Given the description of an element on the screen output the (x, y) to click on. 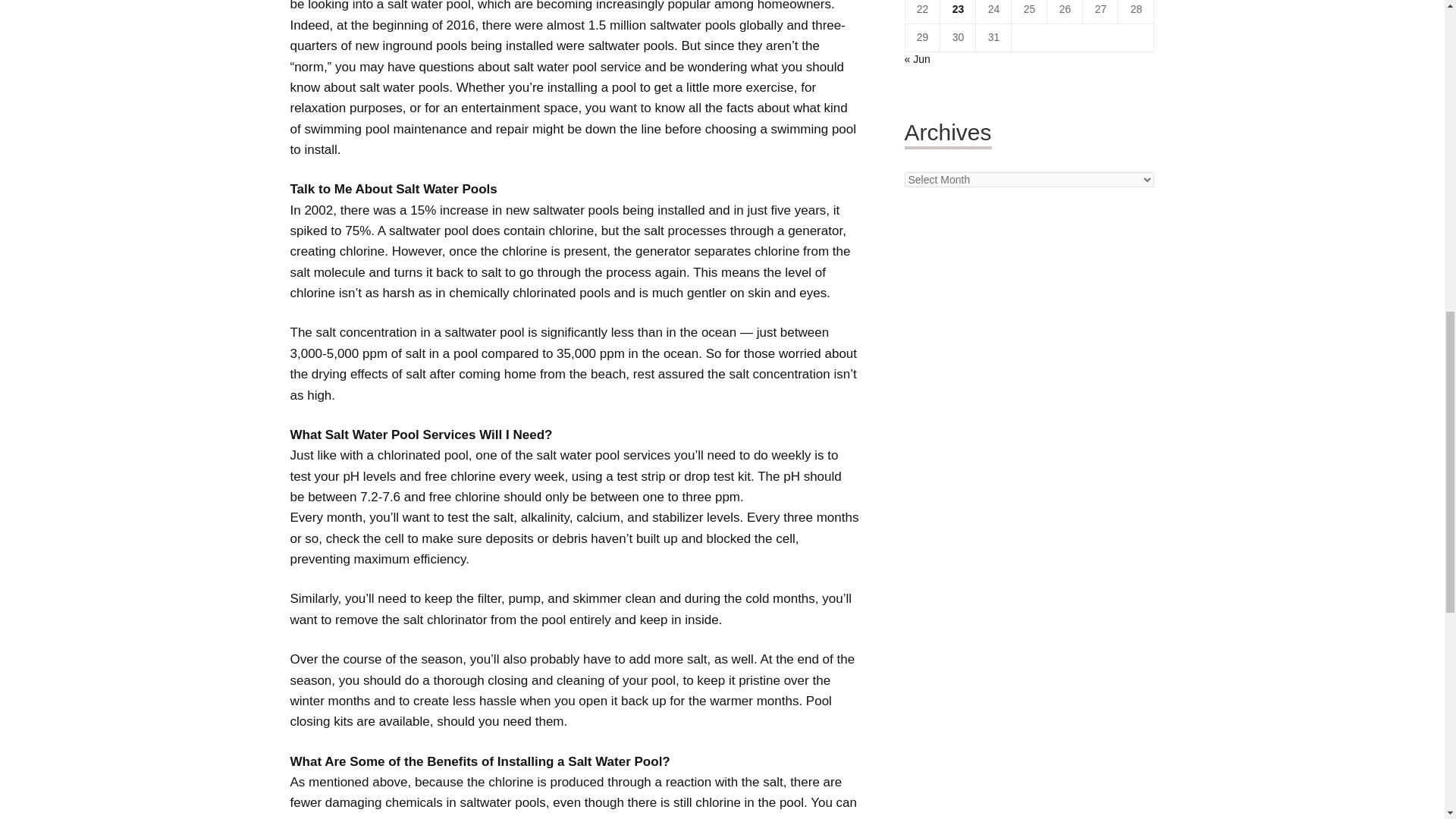
Another resource (657, 454)
salt water pools (403, 87)
Find more (403, 87)
23 (957, 9)
Something I found (428, 5)
salt water pool (428, 5)
